Given the description of an element on the screen output the (x, y) to click on. 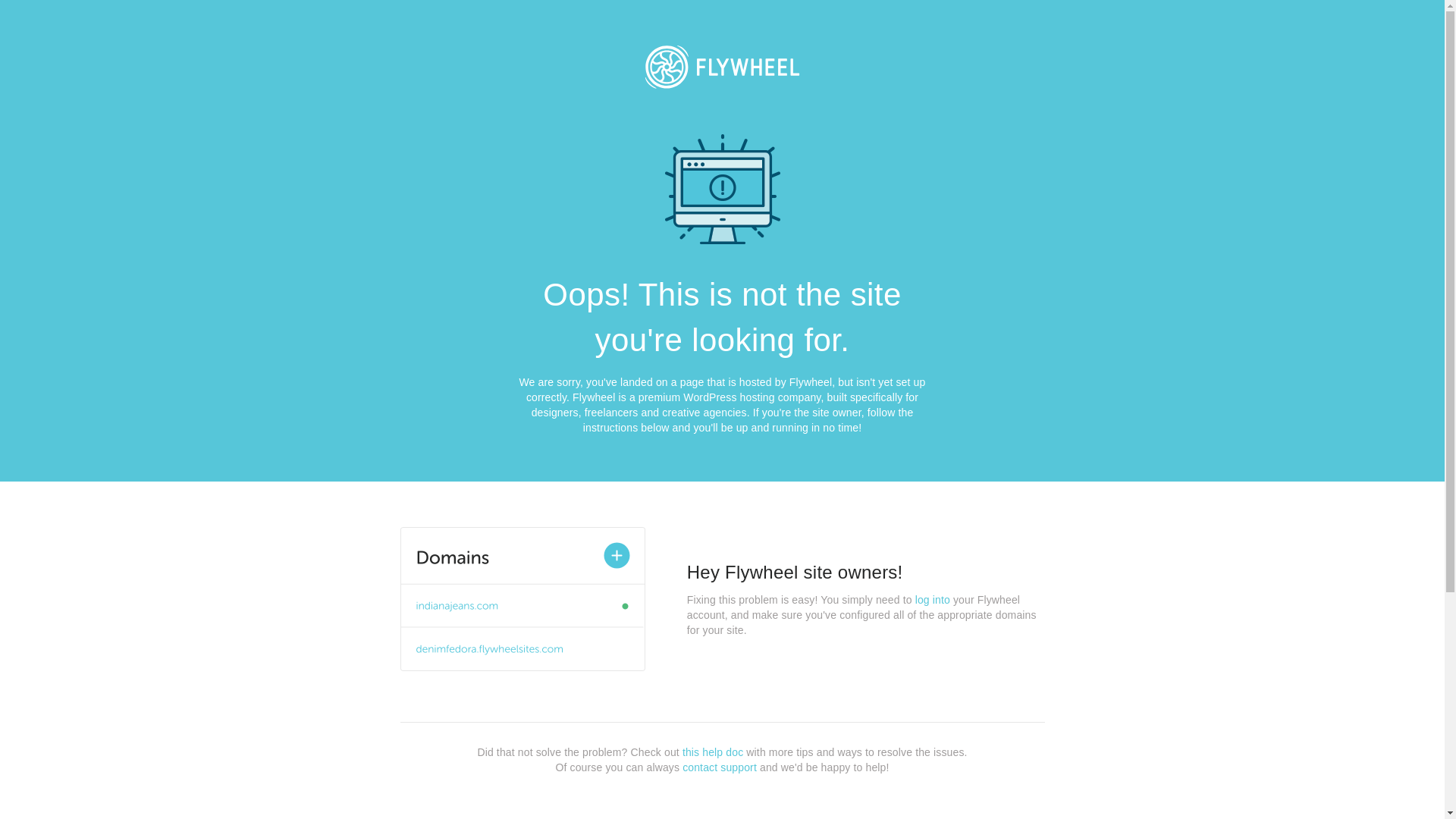
contact support (719, 767)
this help doc (712, 752)
log into (932, 599)
